Given the description of an element on the screen output the (x, y) to click on. 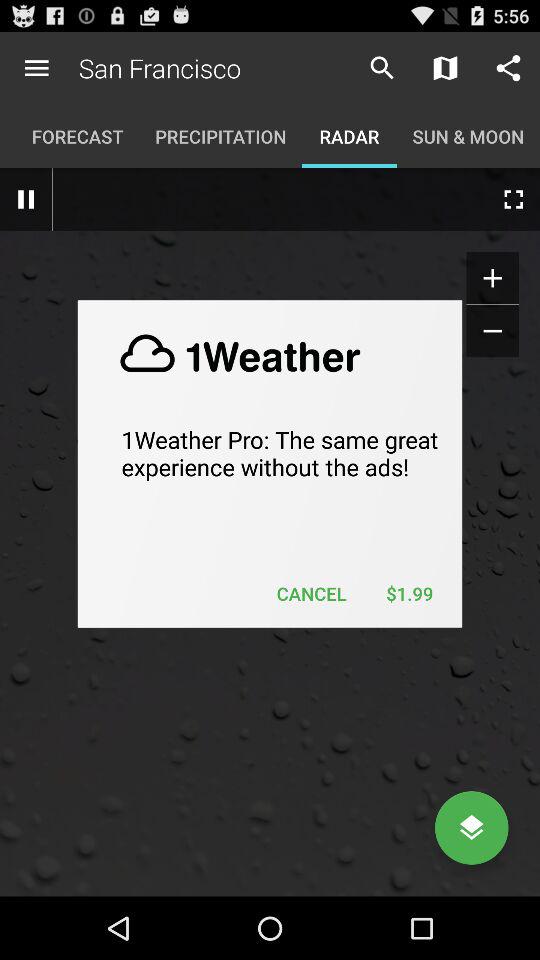
turn on the item to the right of cancel (409, 593)
